Given the description of an element on the screen output the (x, y) to click on. 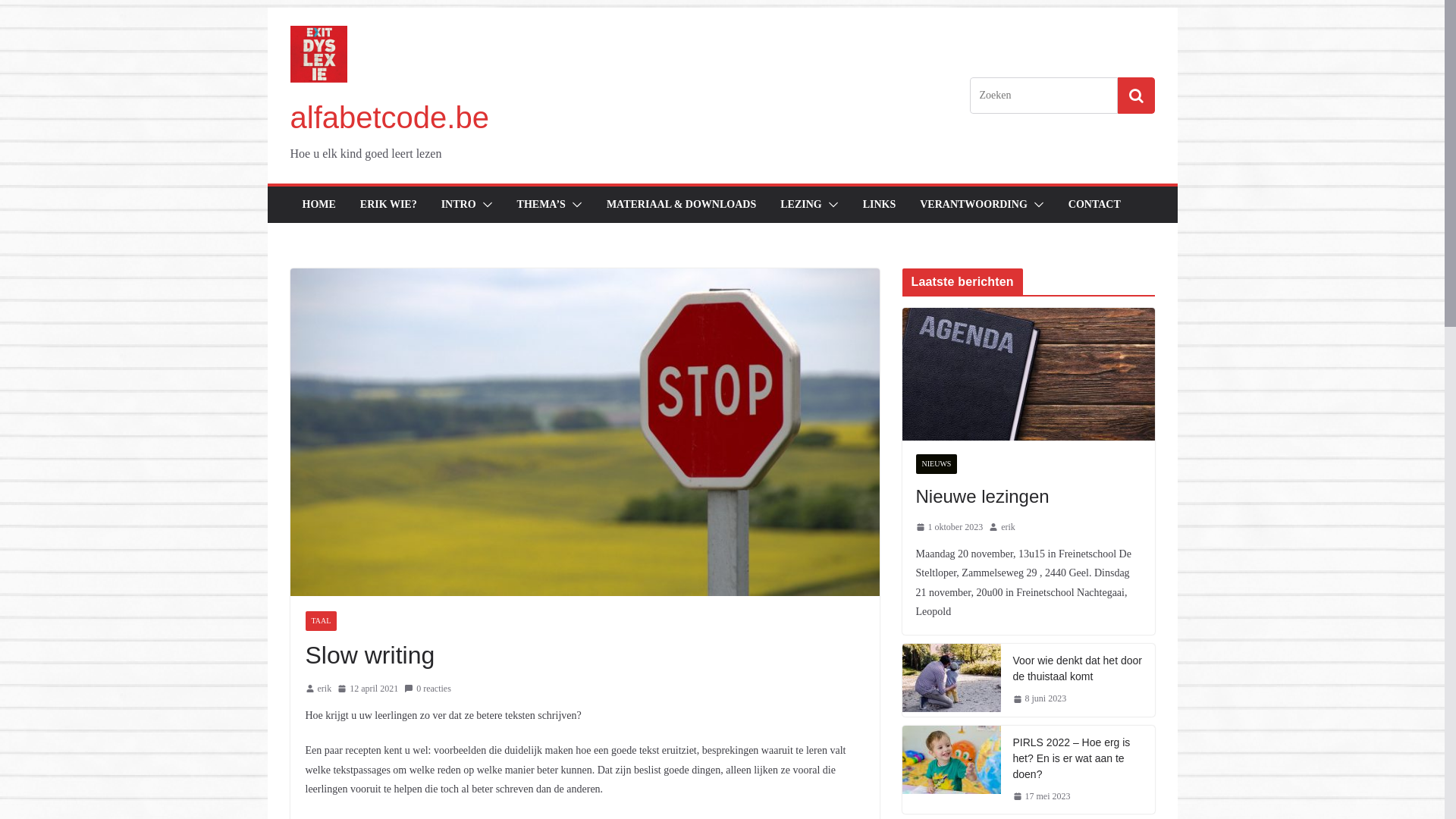
Nieuwe lezingen Element type: hover (1028, 373)
Voor wie denkt dat het door de thuistaal komt Element type: text (1077, 668)
Nieuwe lezingen Element type: text (1028, 496)
LEZING Element type: text (800, 204)
ERIK WIE? Element type: text (388, 204)
erik Element type: text (323, 688)
8 juni 2023 Element type: text (1039, 698)
VERANTWOORDING Element type: text (973, 204)
alfabetcode.be Element type: text (388, 117)
TAAL Element type: text (320, 620)
17 mei 2023 Element type: text (1041, 796)
1 oktober 2023 Element type: text (949, 527)
Spring naar inhoud Element type: text (266, 6)
12 april 2021 Element type: text (367, 688)
Voor wie denkt dat het door de thuistaal komt Element type: hover (951, 679)
MATERIAAL & DOWNLOADS Element type: text (681, 204)
erik Element type: text (1008, 527)
NIEUWS Element type: text (936, 463)
LINKS Element type: text (879, 204)
CONTACT Element type: text (1094, 204)
HOME Element type: text (318, 204)
INTRO Element type: text (458, 204)
0 reacties Element type: text (427, 688)
Voor wie denkt dat het door de thuistaal komt Element type: hover (951, 677)
